Given the description of an element on the screen output the (x, y) to click on. 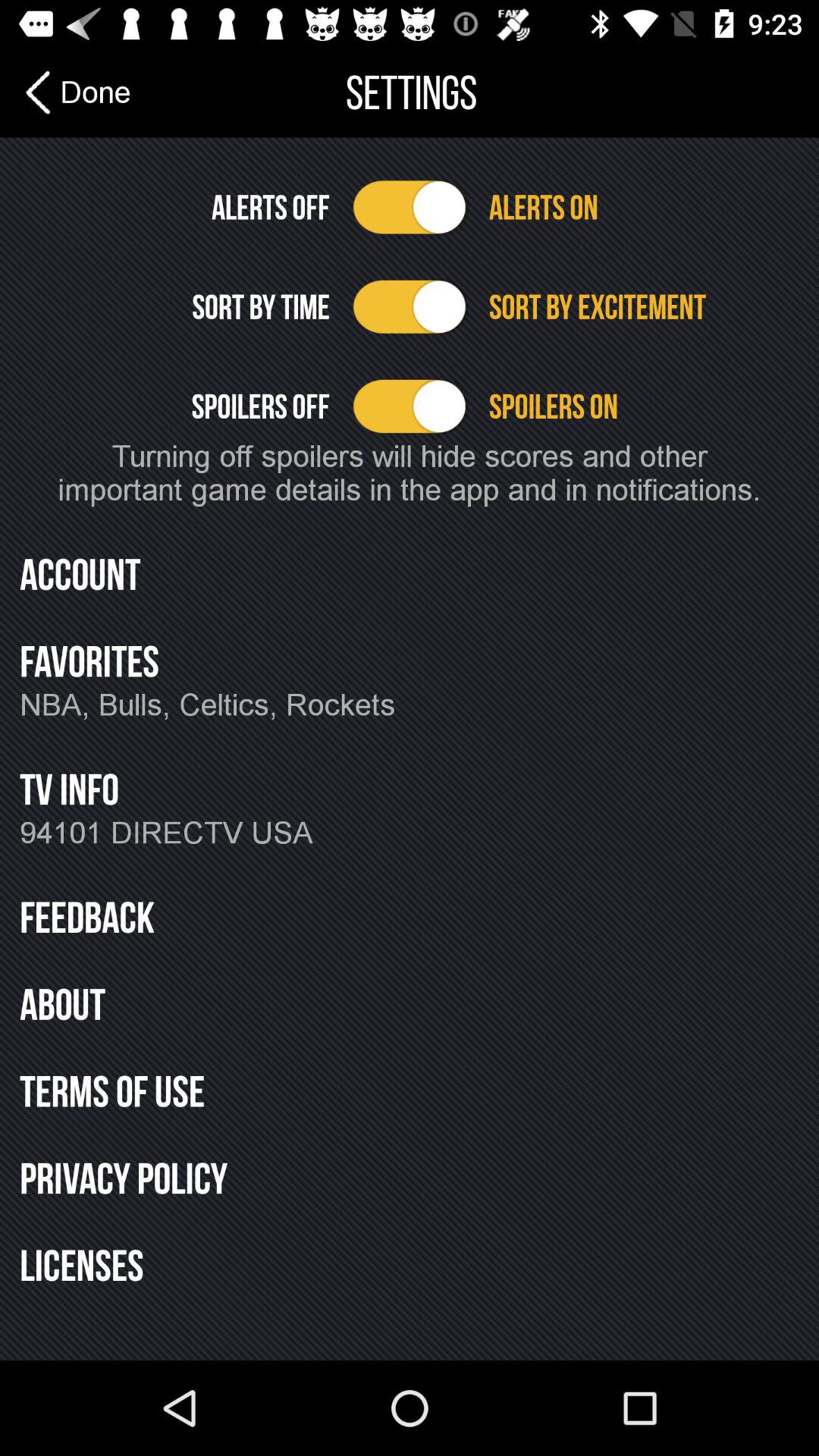
toggle sorting option (409, 306)
